Given the description of an element on the screen output the (x, y) to click on. 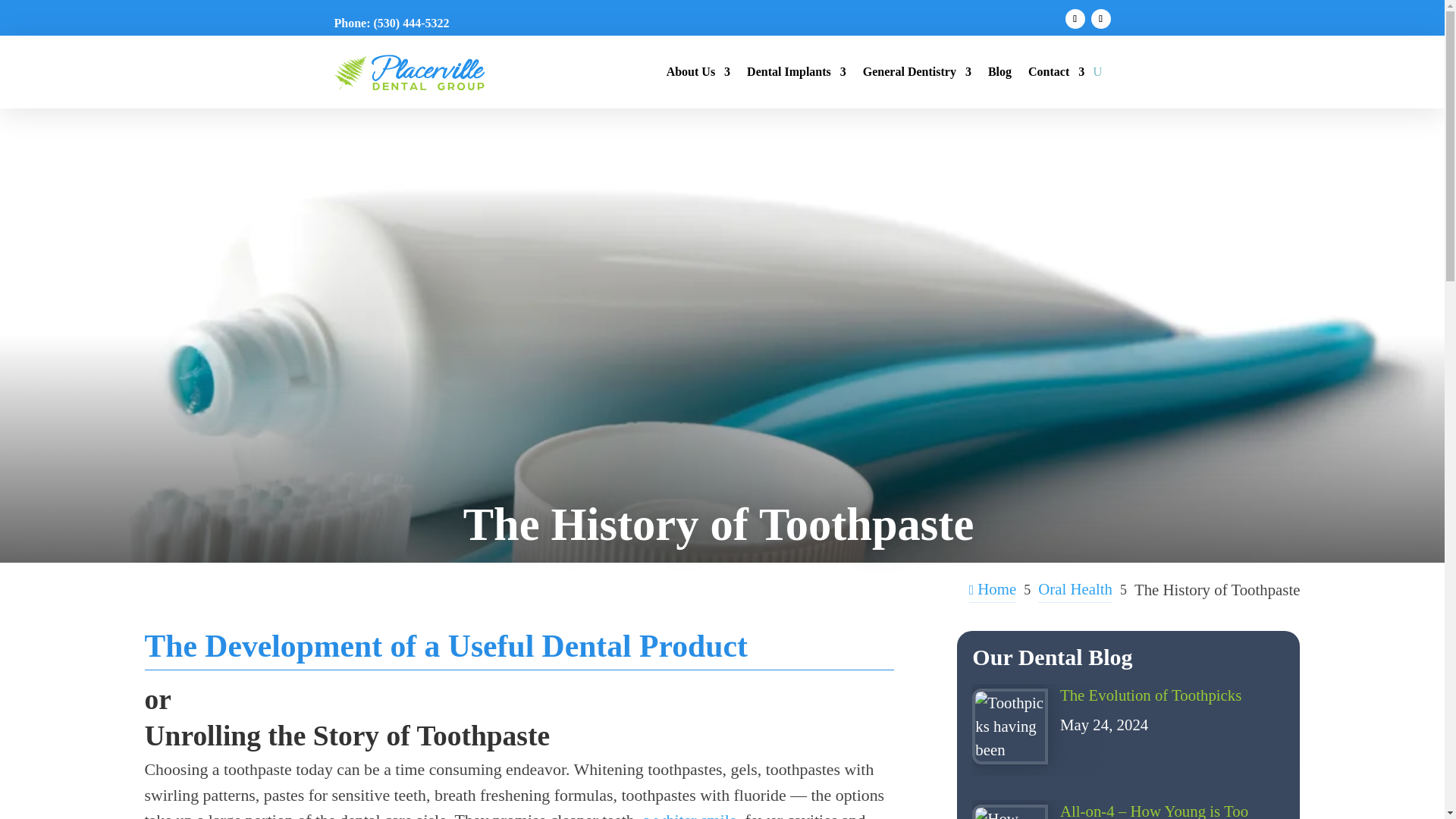
Dental Implants (795, 71)
Follow on X (1099, 18)
General Dentistry (917, 71)
About Us (698, 71)
Tooth Whitening (689, 815)
Follow on Facebook (1074, 18)
